Given the description of an element on the screen output the (x, y) to click on. 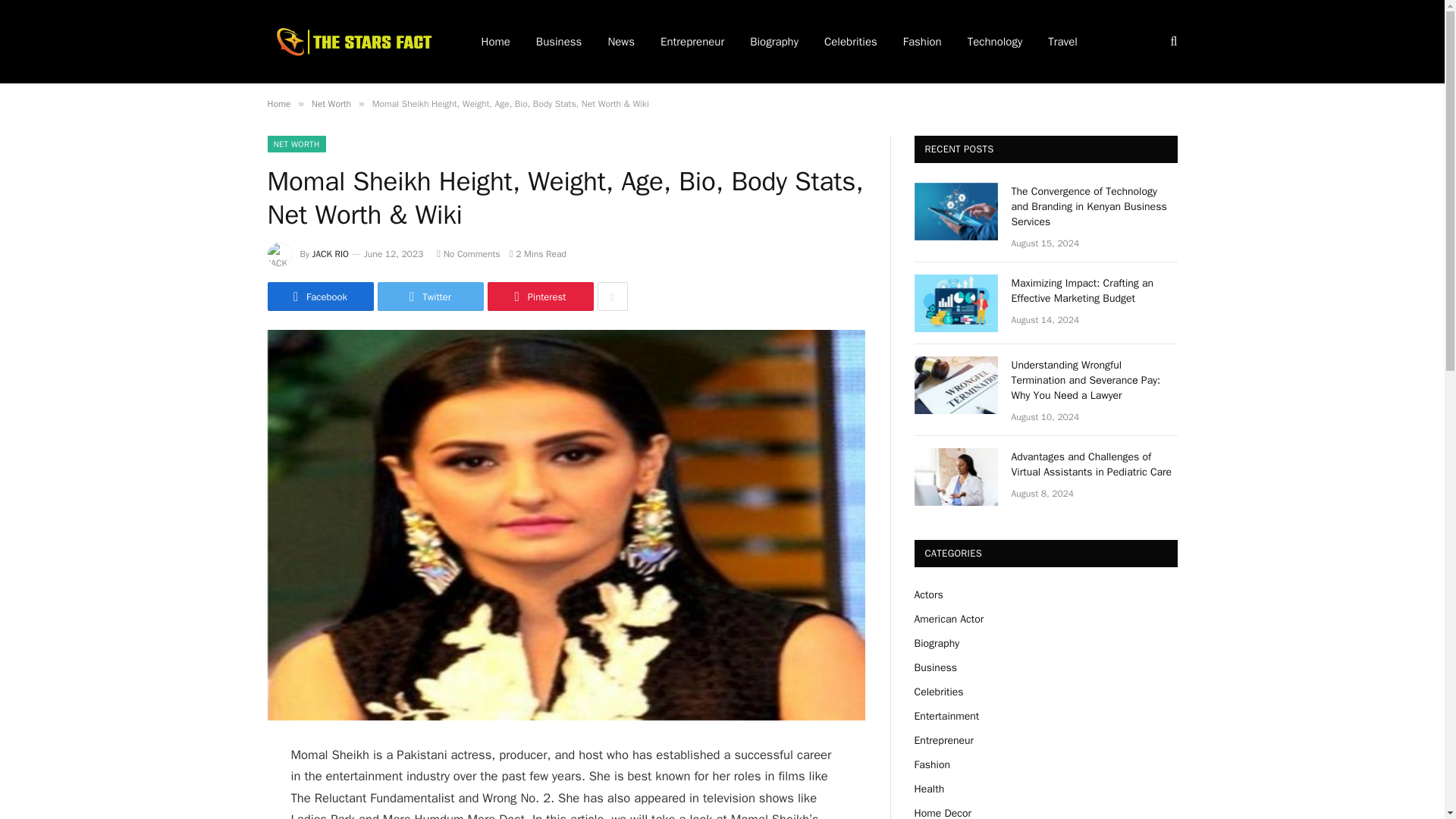
The Stars Fact (353, 41)
Entrepreneur (691, 41)
Celebrities (849, 41)
Twitter (430, 296)
Posts by JACK RIO (331, 254)
Biography (773, 41)
JACK RIO (331, 254)
Technology (995, 41)
Pinterest (539, 296)
Home (277, 103)
